Given the description of an element on the screen output the (x, y) to click on. 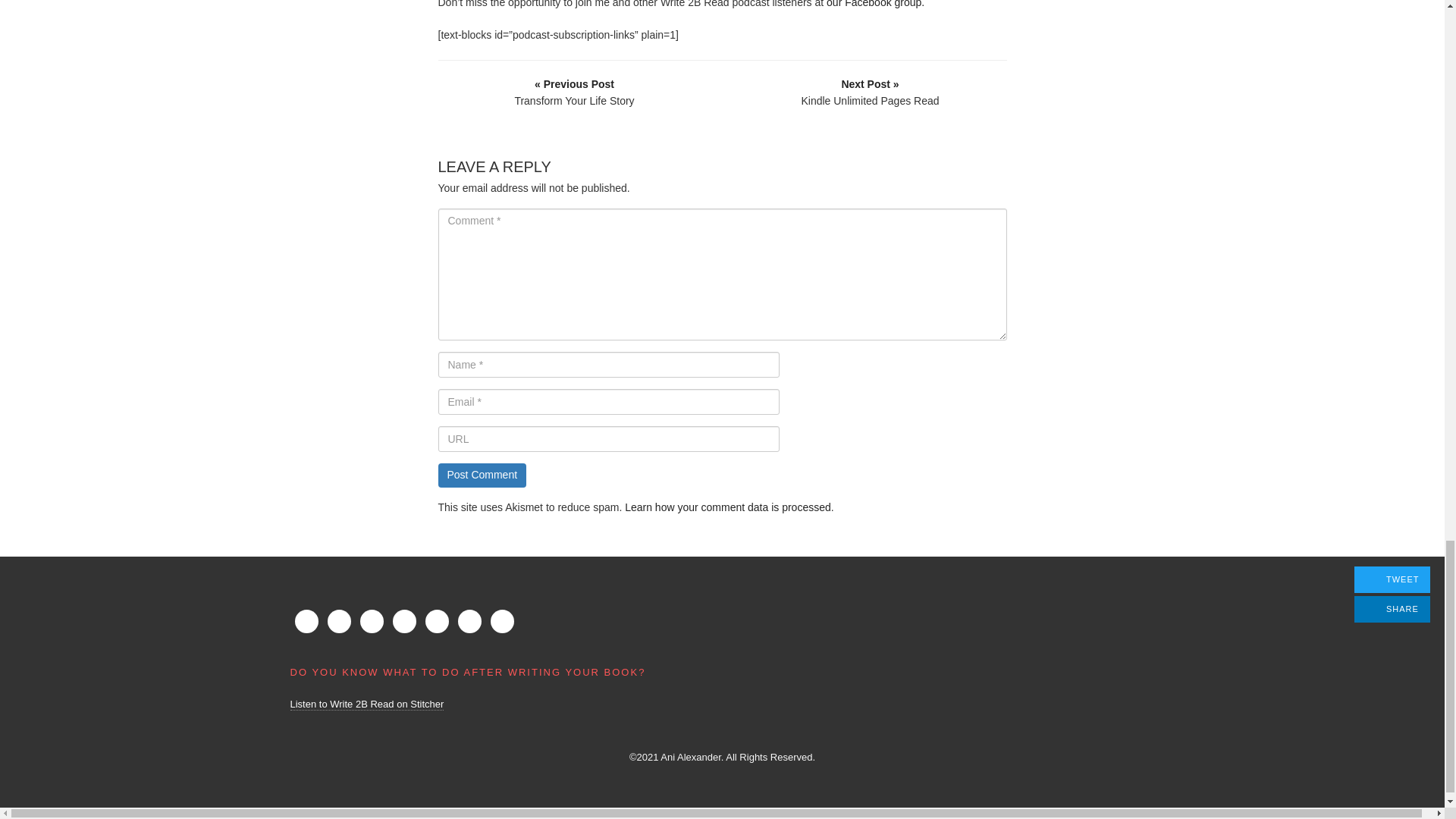
Transform Your Life Story (574, 92)
Listen to Write 2B Read on Stitcher (366, 704)
Post Comment (482, 475)
Learn how your comment data is processed (727, 507)
our Facebook group. (875, 4)
Kindle Unlimited Pages Read (869, 92)
Post Comment (482, 475)
